Given the description of an element on the screen output the (x, y) to click on. 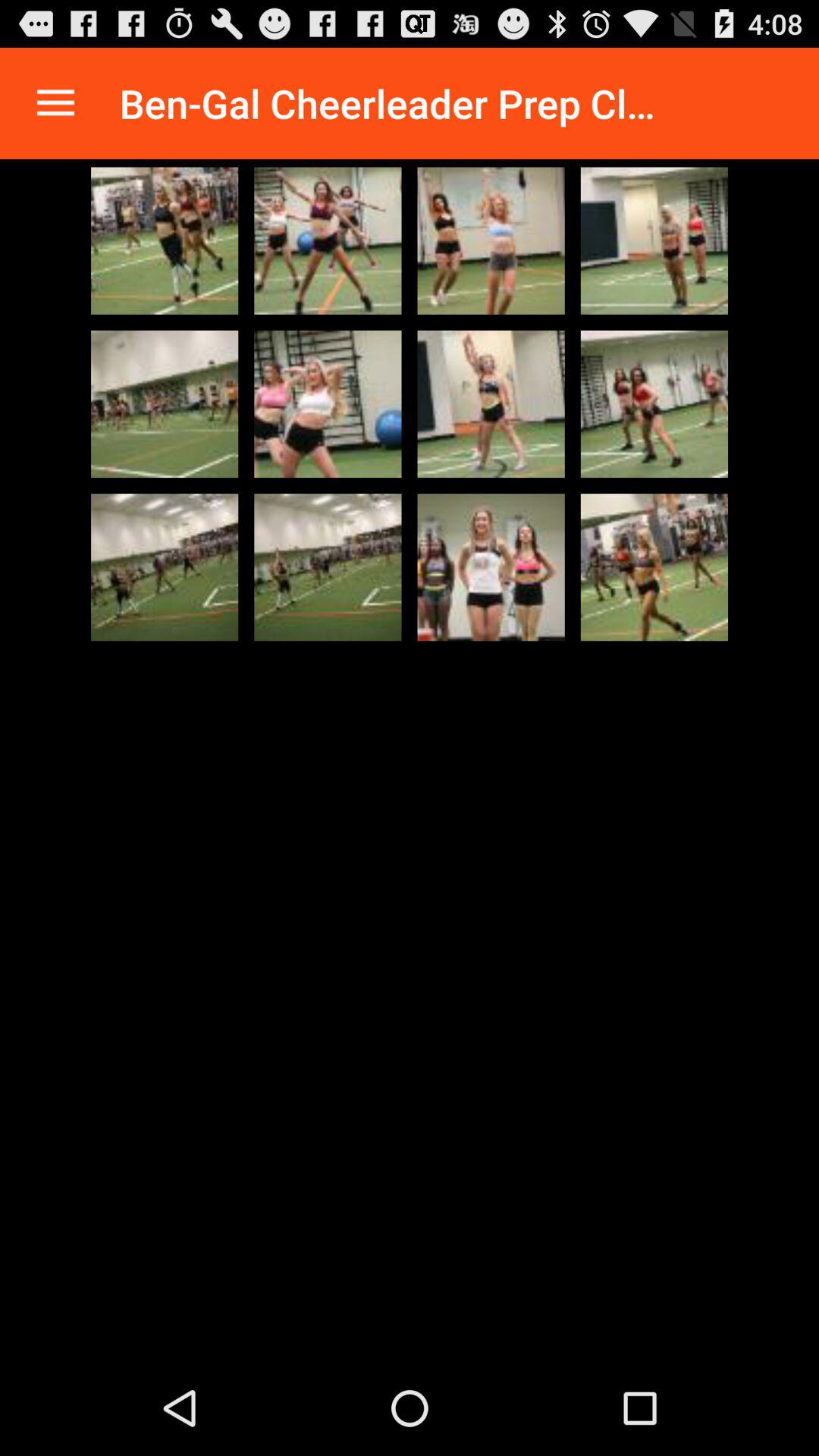
click image go to large (490, 566)
